Given the description of an element on the screen output the (x, y) to click on. 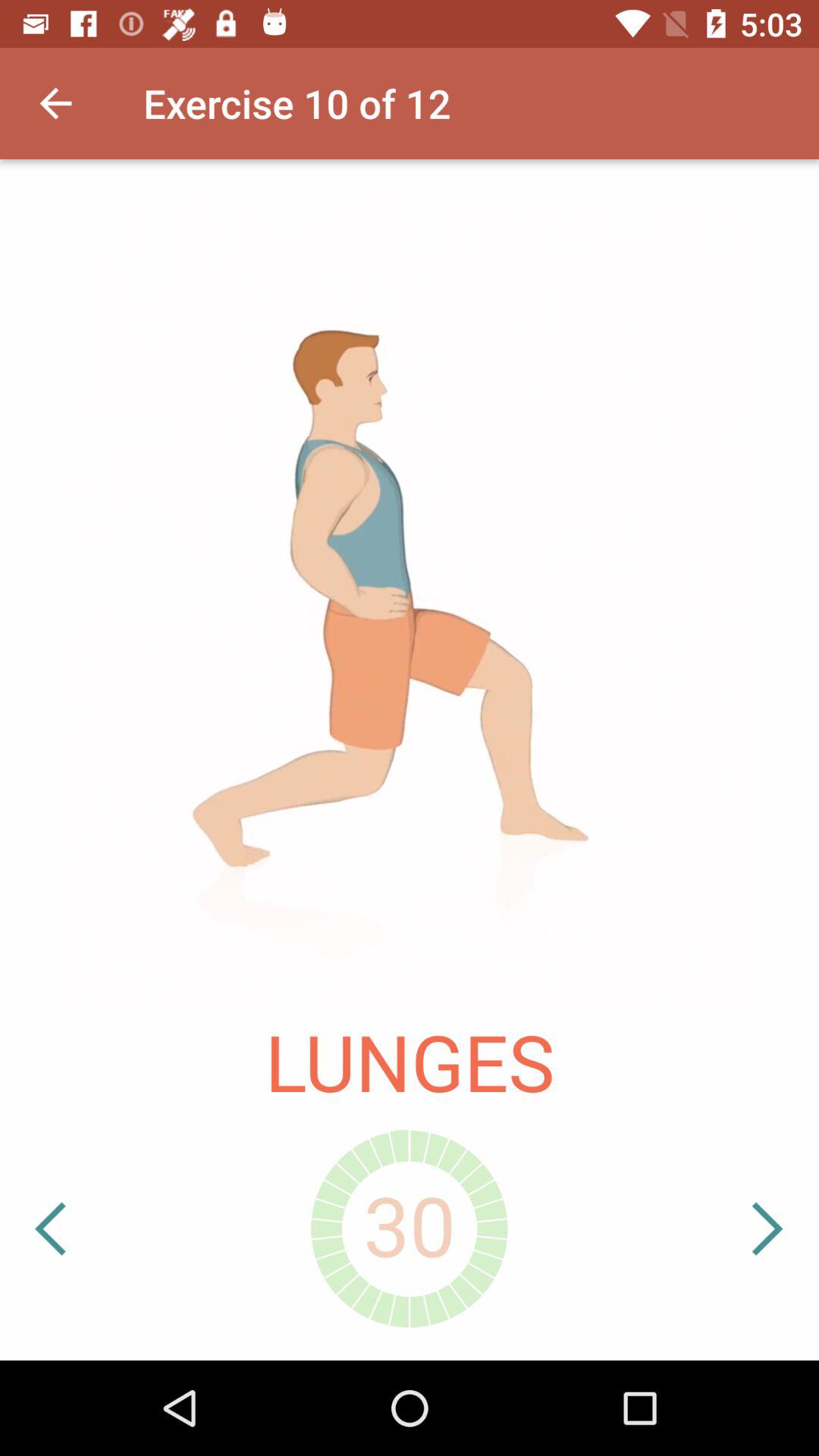
open icon next to exercise 10 of icon (55, 103)
